Given the description of an element on the screen output the (x, y) to click on. 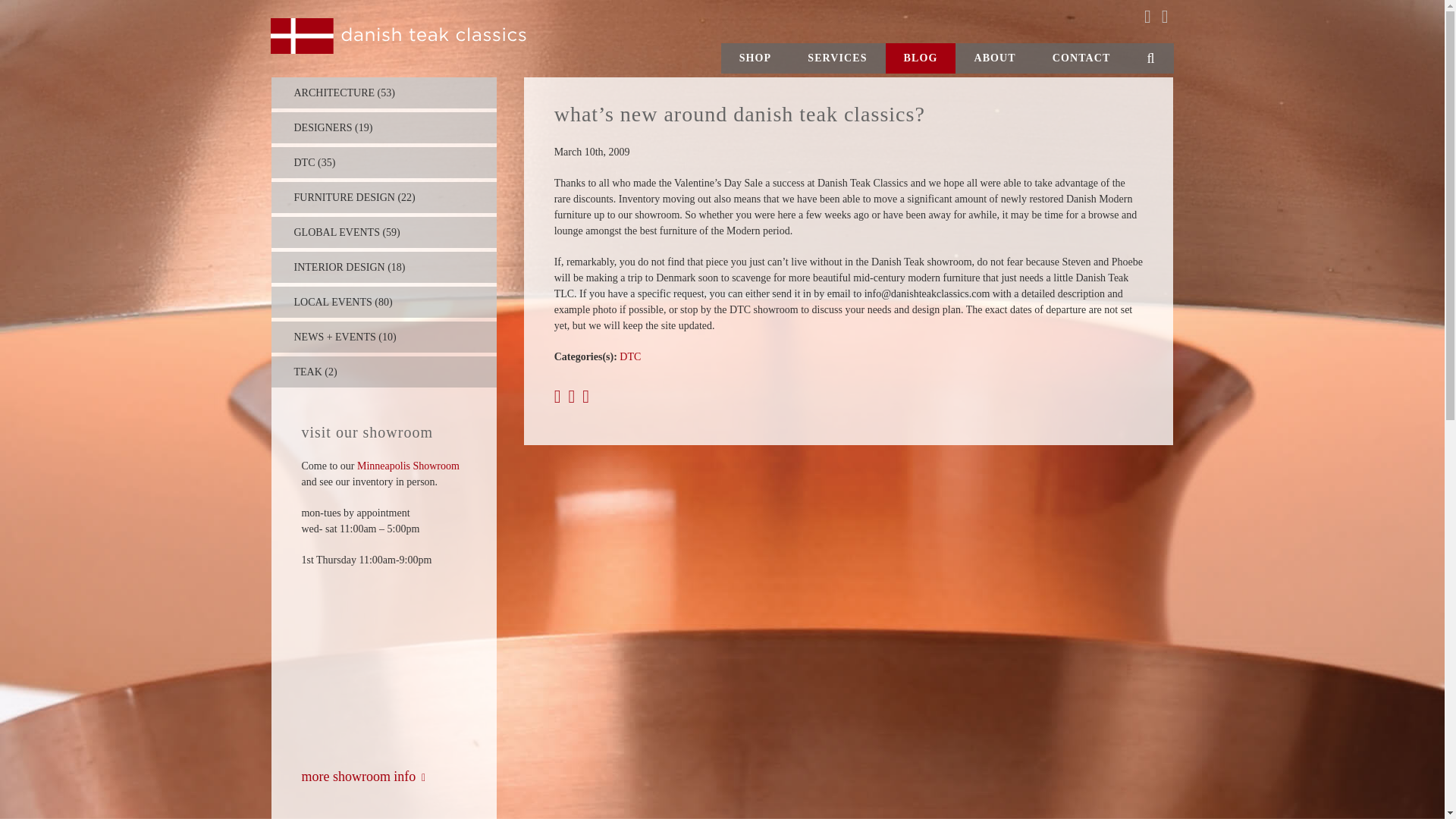
Minneapolis Showroom (408, 465)
SHOP (755, 58)
Facebook (1147, 16)
more showroom info (363, 776)
SERVICES (837, 58)
ABOUT (994, 58)
Instagram (1164, 16)
BLOG (920, 58)
CONTACT (1081, 58)
